Given the description of an element on the screen output the (x, y) to click on. 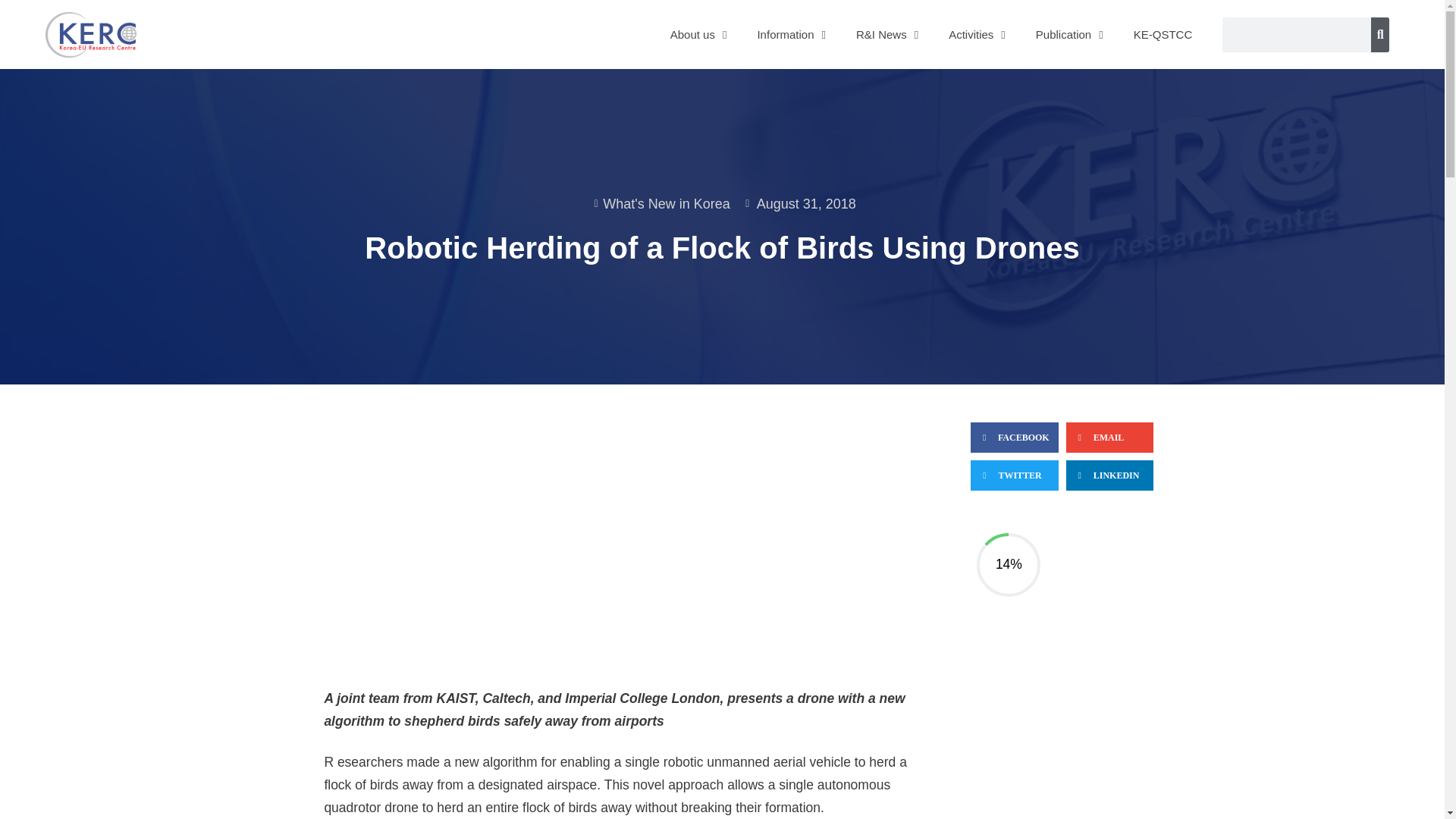
Publication (1069, 34)
About us (698, 34)
Information (791, 34)
KE-QSTCC (1163, 34)
Activities (976, 34)
